Given the description of an element on the screen output the (x, y) to click on. 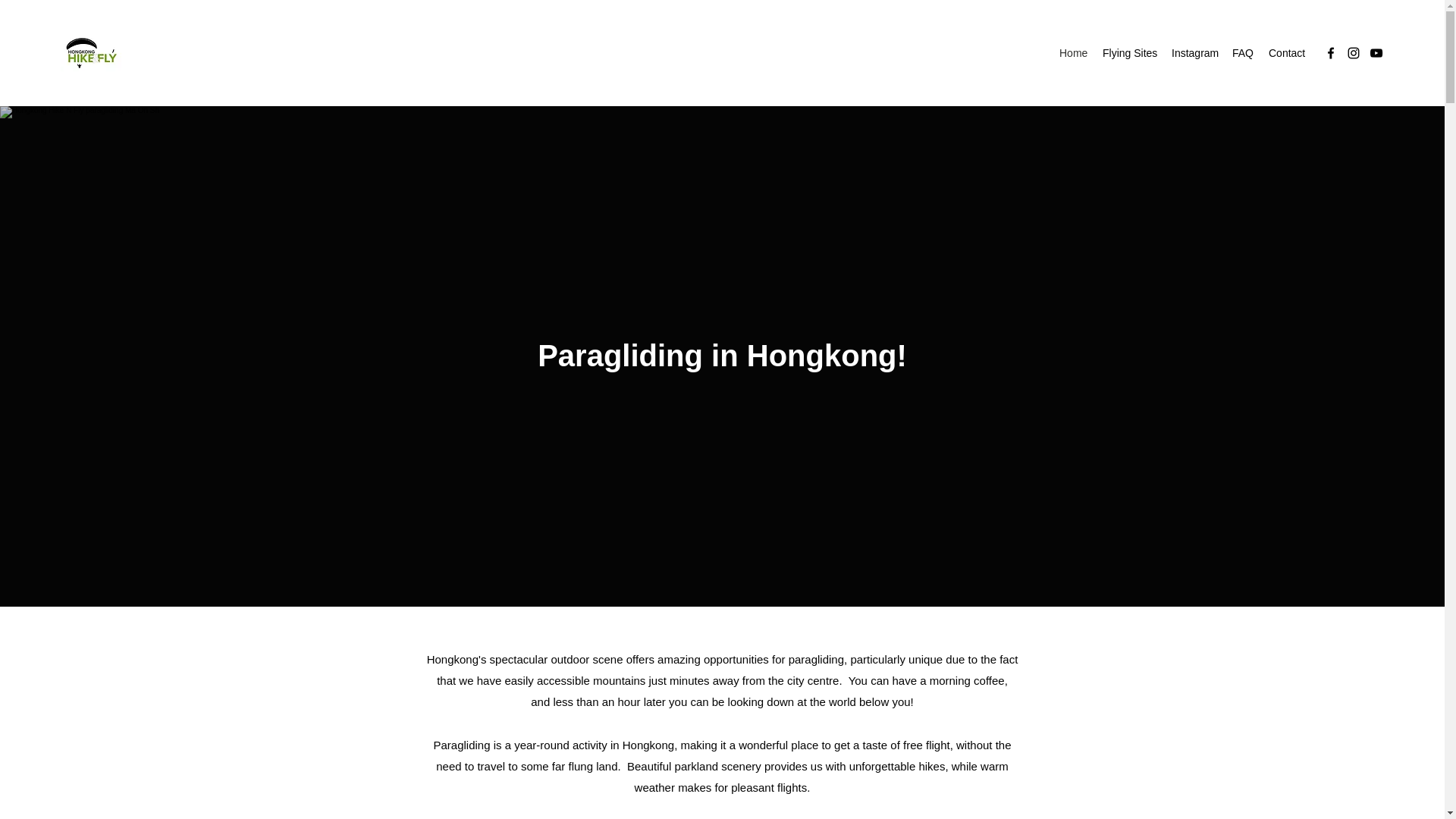
FAQ (1242, 52)
Home (1072, 52)
Instagram (1193, 52)
Contact (1285, 52)
Flying Sites (1128, 52)
